Given the description of an element on the screen output the (x, y) to click on. 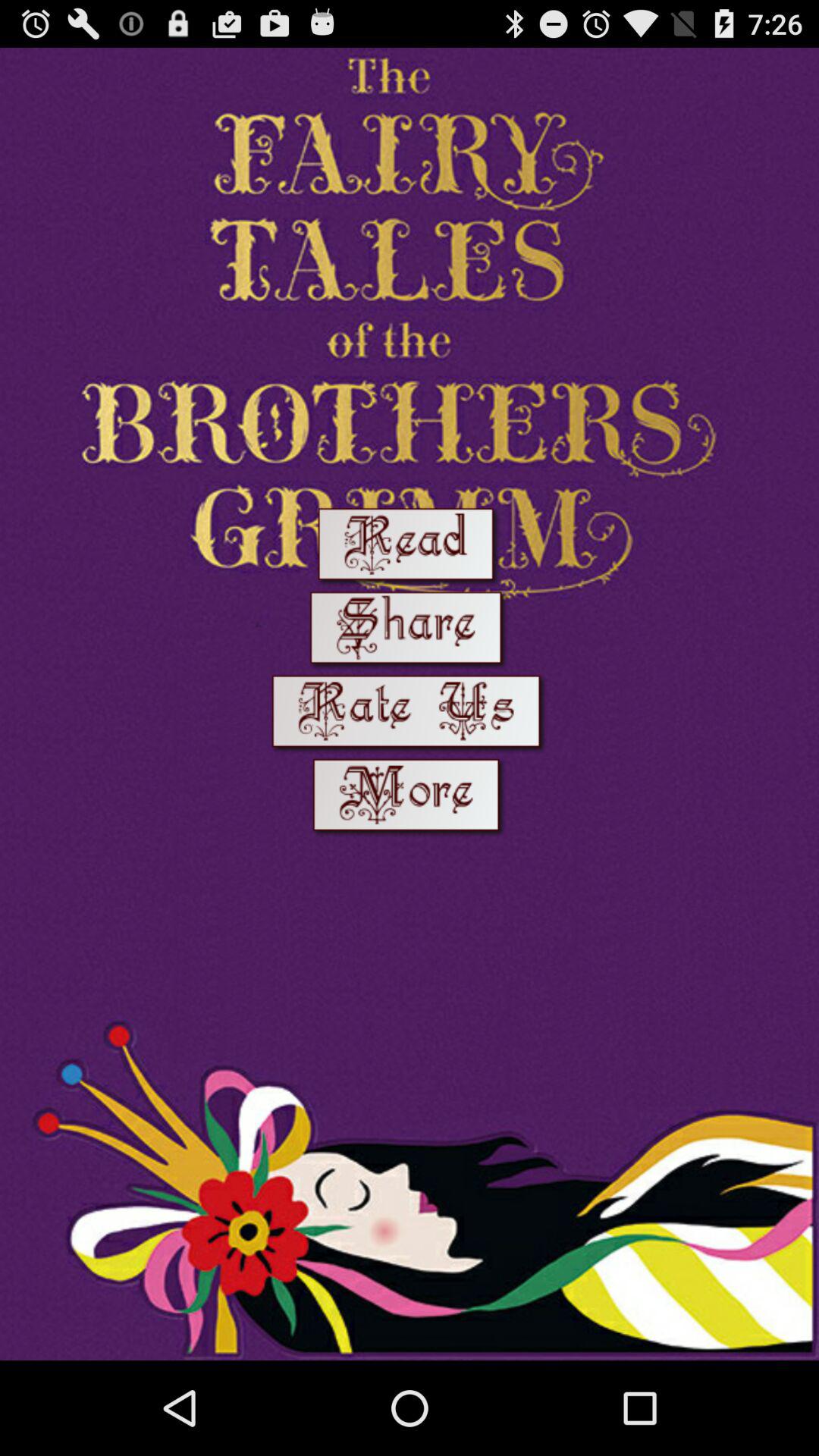
select to know more (409, 798)
